Given the description of an element on the screen output the (x, y) to click on. 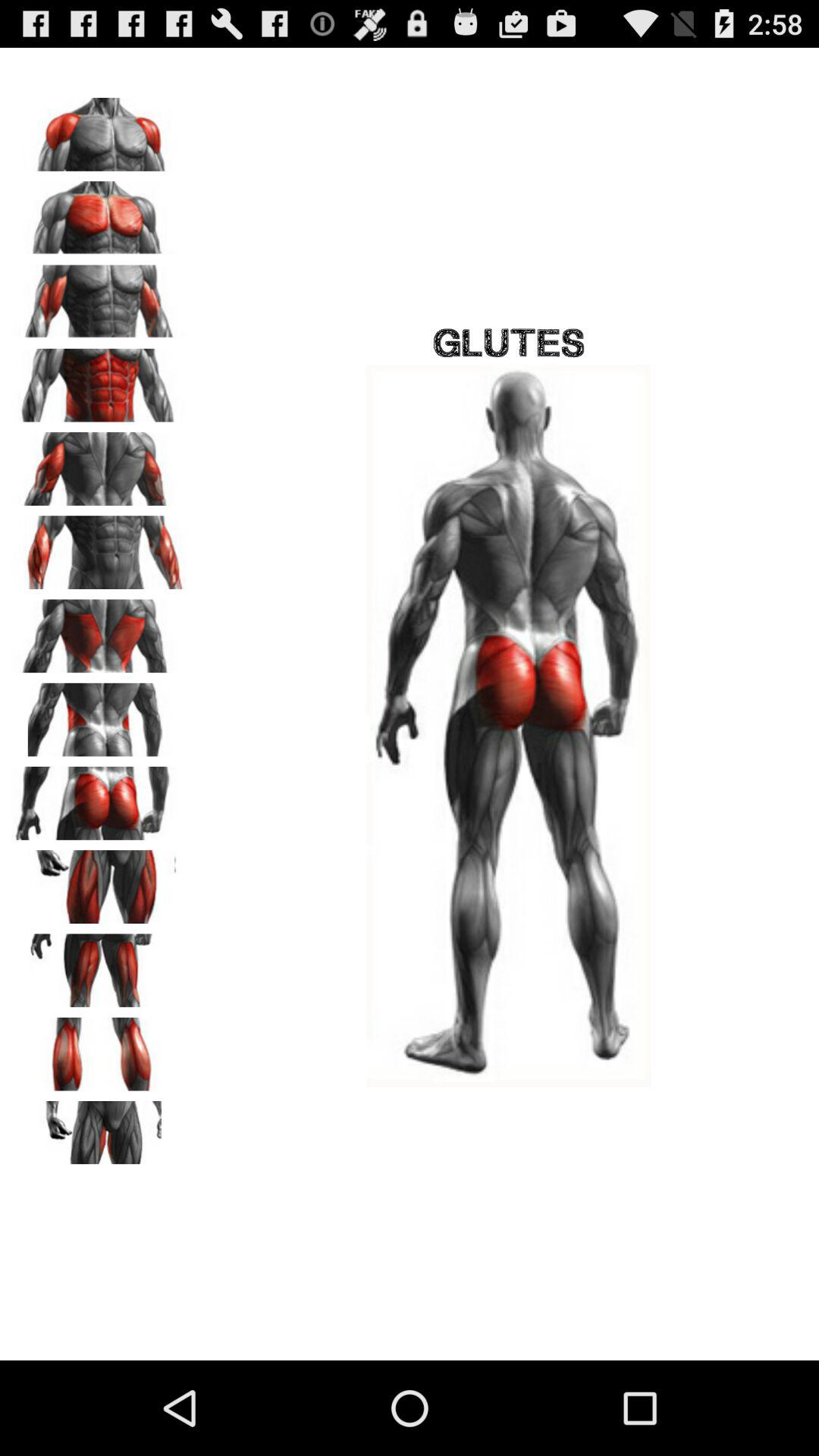
change muscle type (99, 463)
